Given the description of an element on the screen output the (x, y) to click on. 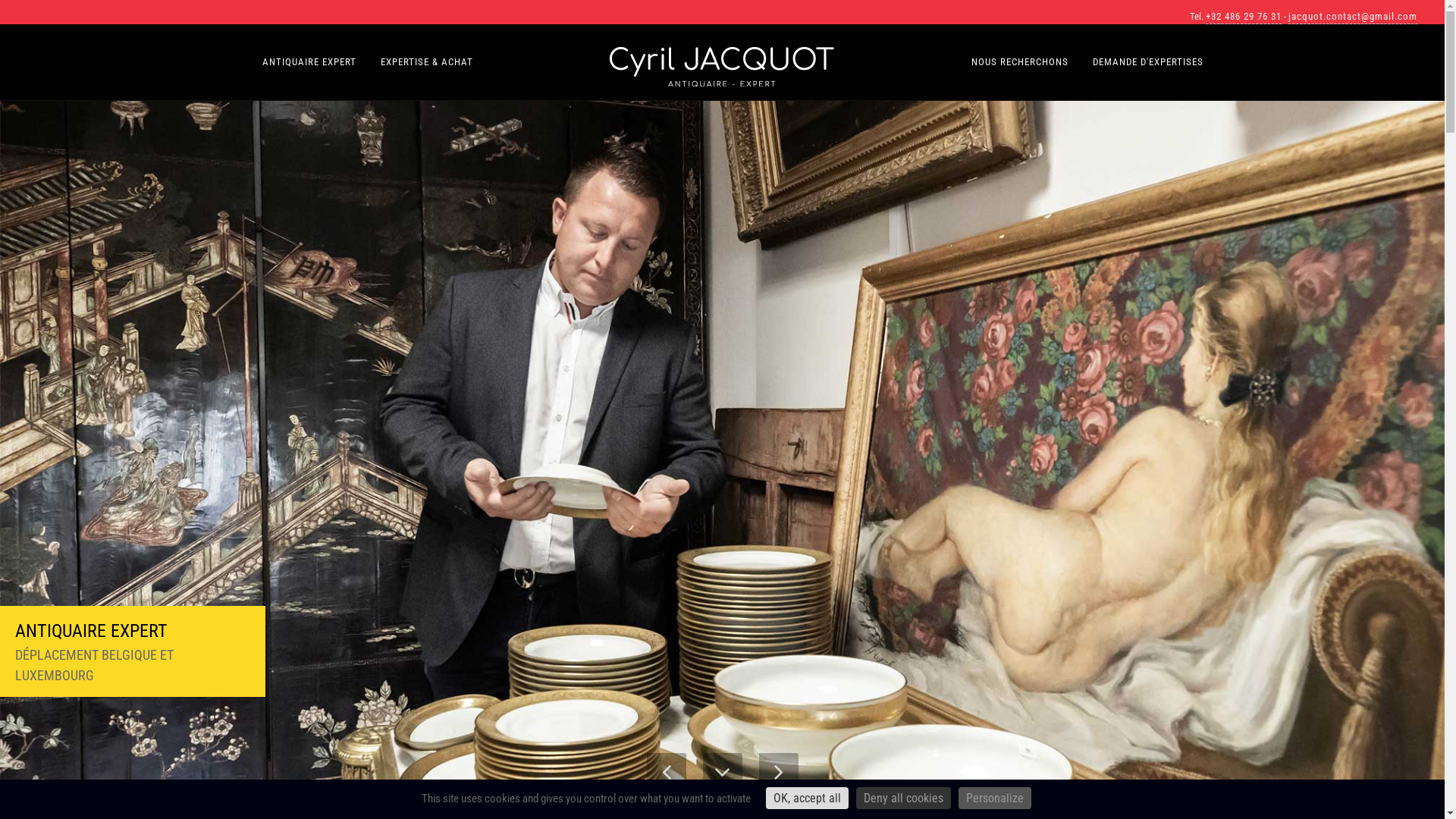
Personalize Element type: text (994, 798)
jacquot.contact@gmail.com Element type: text (1352, 17)
EXPERTISE & ACHAT Element type: text (426, 62)
OK, accept all Element type: text (806, 798)
ANTIQUAIRE EXPERT Element type: text (309, 62)
+32 486 29 76 31 Element type: text (1243, 17)
Deny all cookies Element type: text (902, 798)
DEMANDE D'EXPERTISES Element type: text (1147, 62)
NOUS RECHERCHONS Element type: text (1019, 62)
